Given the description of an element on the screen output the (x, y) to click on. 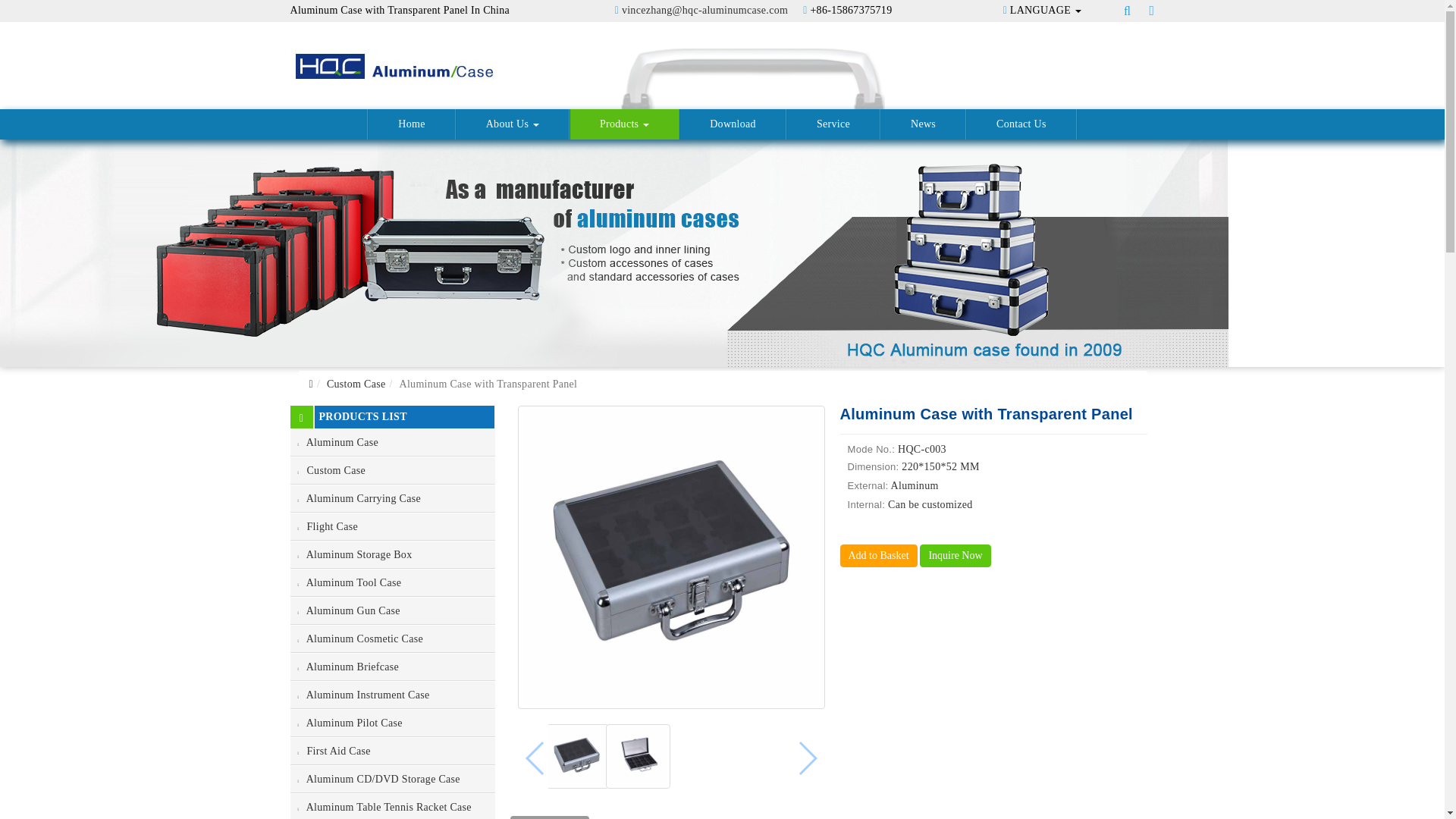
Download (732, 124)
Service (833, 124)
Home (411, 124)
Products (624, 124)
Home (411, 124)
About Us (513, 124)
Products (624, 124)
About Us (513, 124)
